Given the description of an element on the screen output the (x, y) to click on. 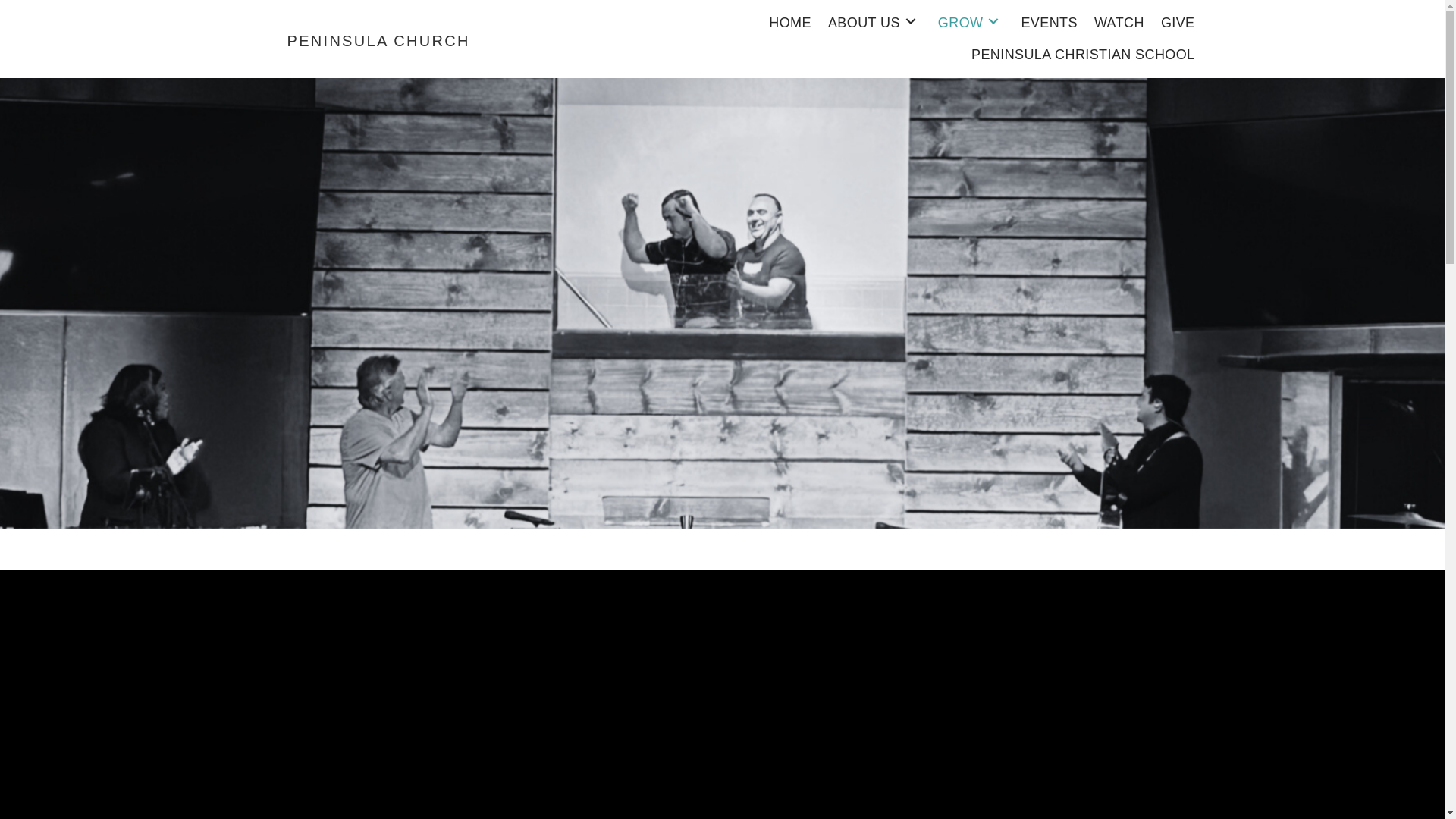
GIVE (1177, 21)
GROW (971, 21)
EVENTS (1048, 21)
Untitled design-29 (259, 40)
PENINSULA CHRISTIAN SCHOOL (1082, 53)
ABOUT US (875, 21)
WATCH (1118, 21)
HOME (789, 21)
